Given the description of an element on the screen output the (x, y) to click on. 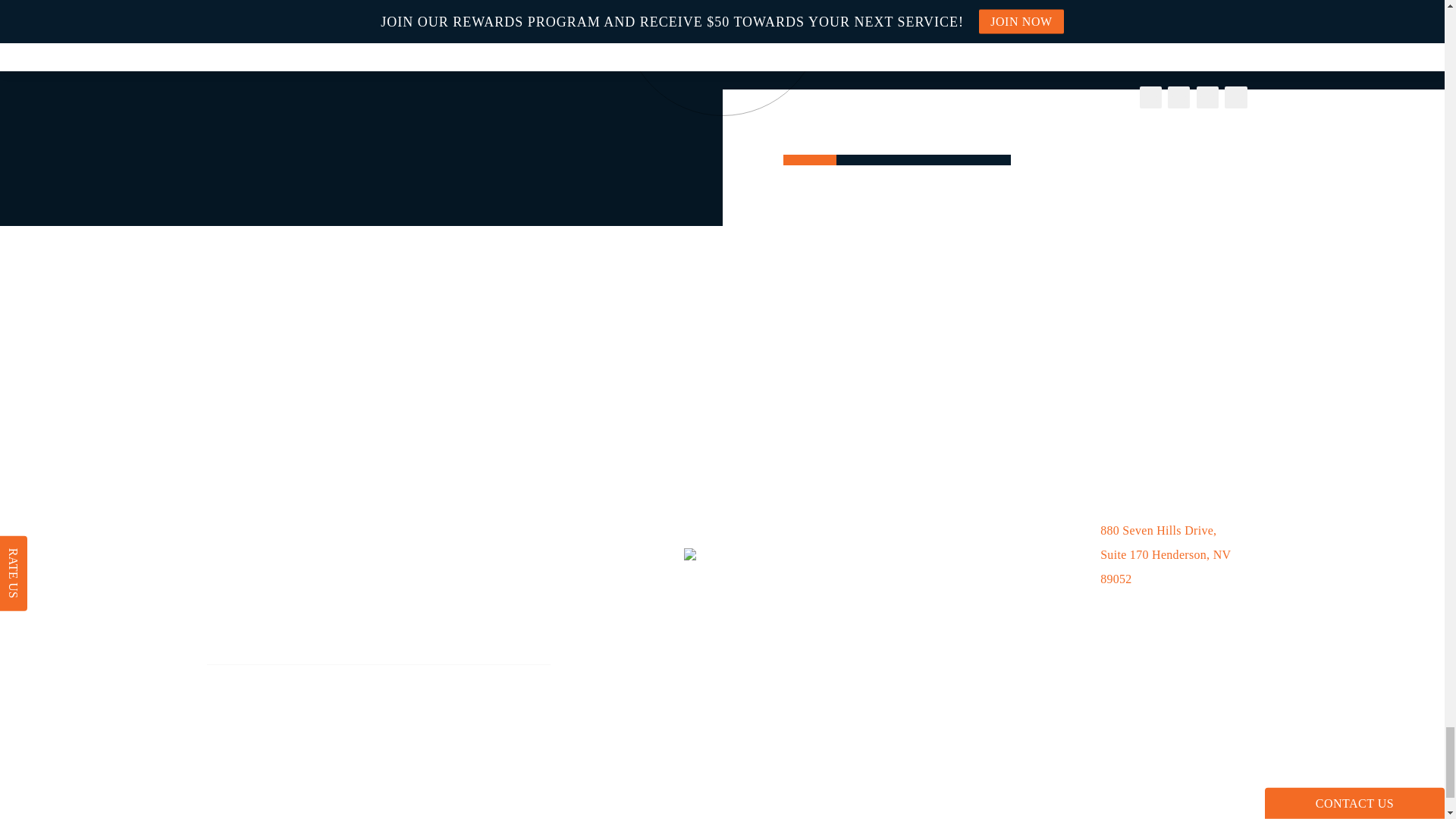
Engineered Aesthetics on Youtube (277, 744)
Engineered Aesthetics on Instagram (248, 744)
Engineered Aesthetics on Linkedin (306, 744)
Engineered Aesthetics on Facebook (219, 744)
